Given the description of an element on the screen output the (x, y) to click on. 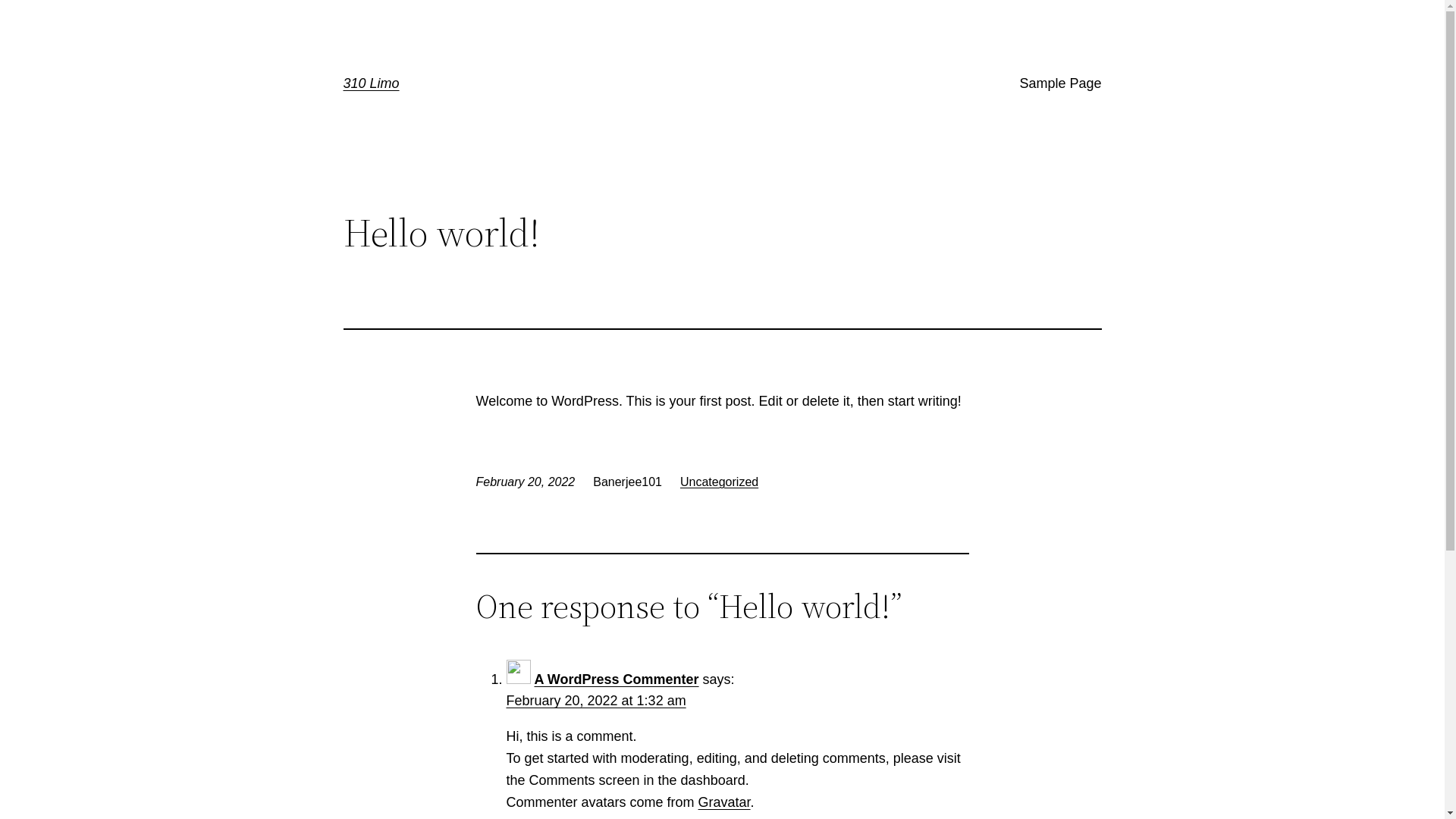
A WordPress Commenter Element type: text (616, 679)
Uncategorized Element type: text (719, 481)
310 Limo Element type: text (370, 83)
February 20, 2022 at 1:32 am Element type: text (596, 700)
Sample Page Element type: text (1060, 83)
Gravatar Element type: text (724, 801)
